Given the description of an element on the screen output the (x, y) to click on. 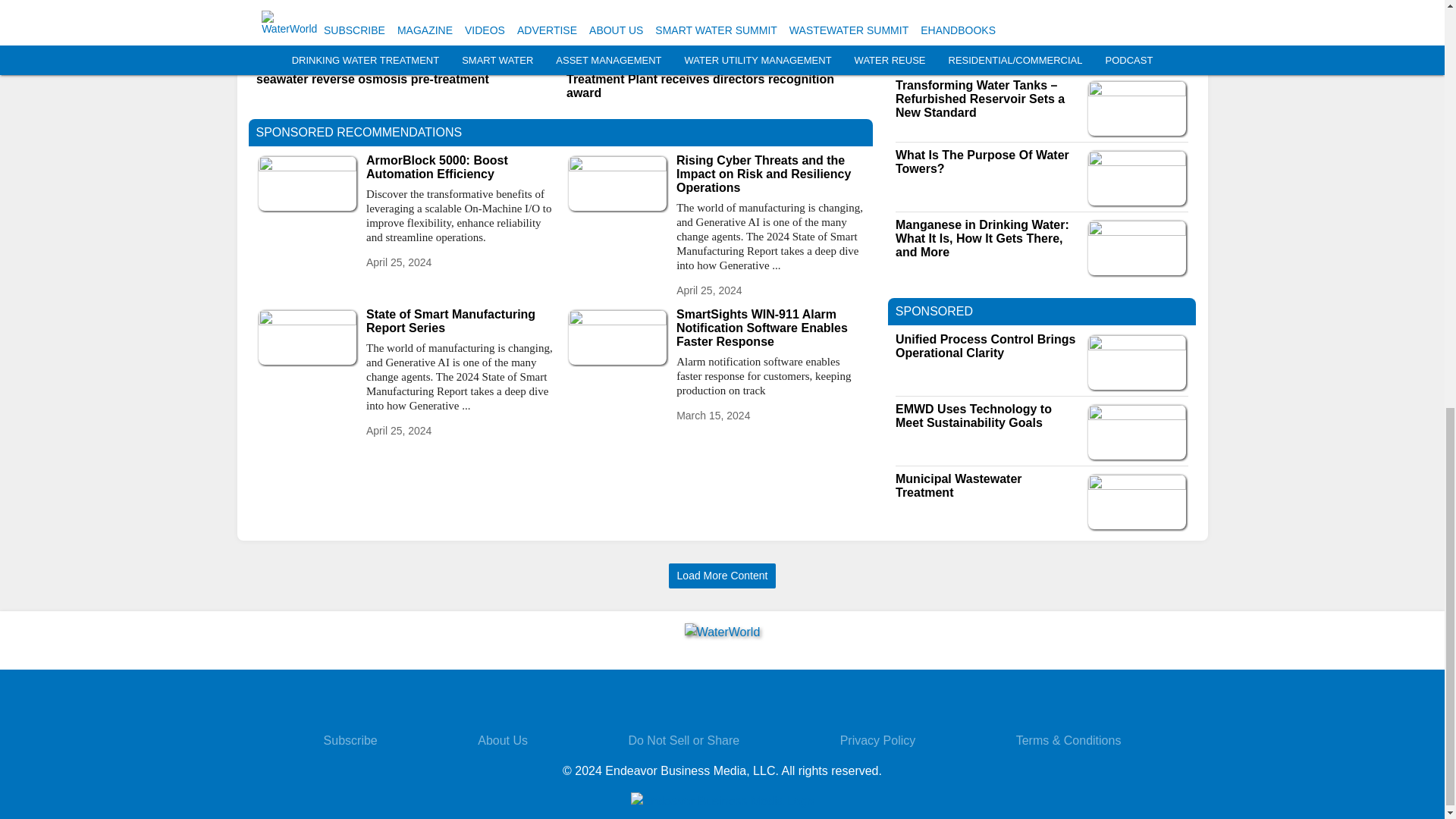
State of Smart Manufacturing Report Series (459, 320)
ArmorBlock 5000: Boost Automation Efficiency (459, 166)
